Given the description of an element on the screen output the (x, y) to click on. 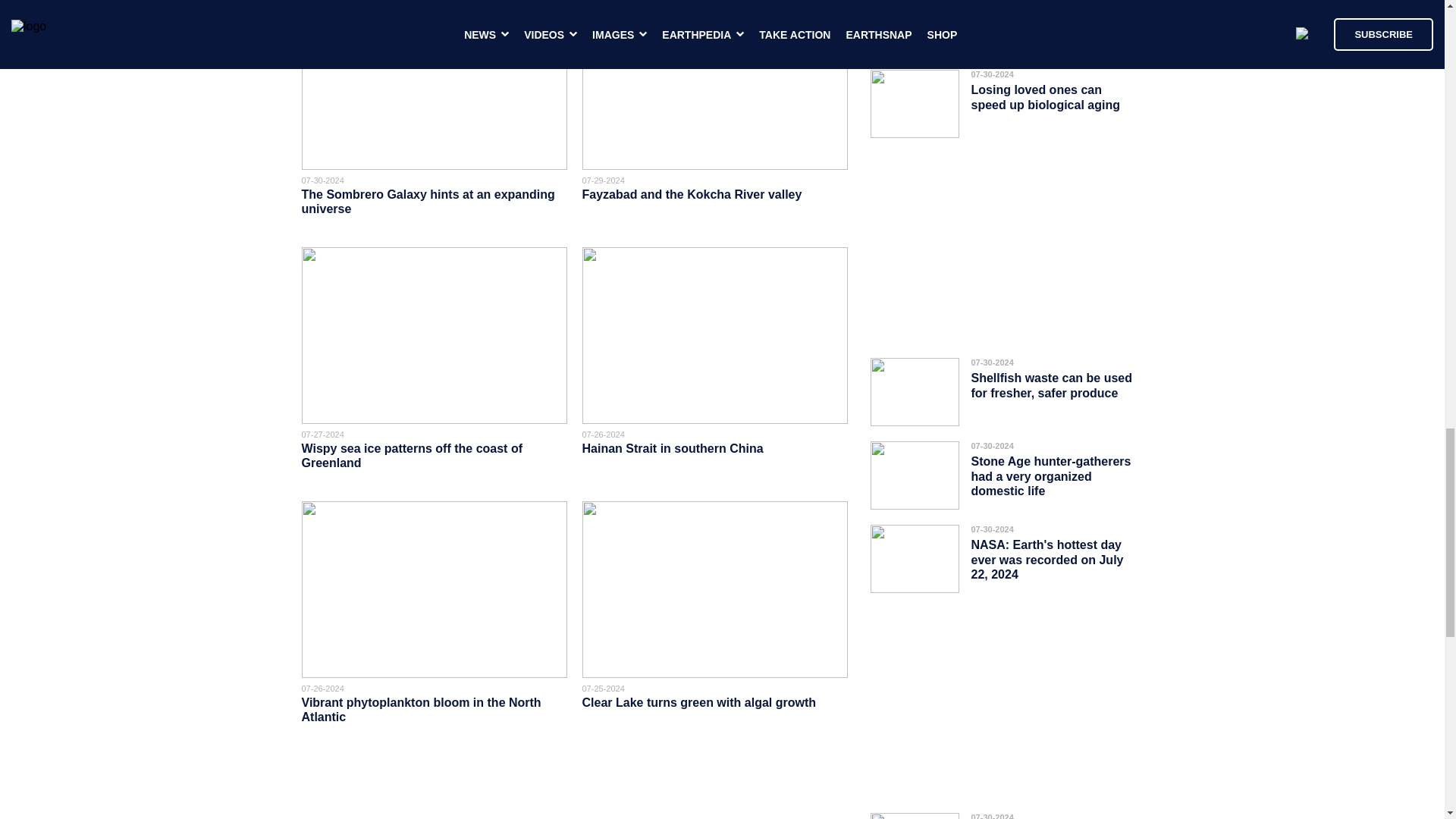
Clear Lake turns green with algal growth (699, 702)
The Sombrero Galaxy hints at an expanding universe  (427, 201)
Vibrant phytoplankton bloom in the North Atlantic (421, 709)
Fayzabad and the Kokcha River valley  (693, 194)
Meal timing has a major influence on our health (1039, 17)
Wispy sea ice patterns off the coast of Greenland (411, 455)
Hainan Strait in southern China (672, 448)
